Given the description of an element on the screen output the (x, y) to click on. 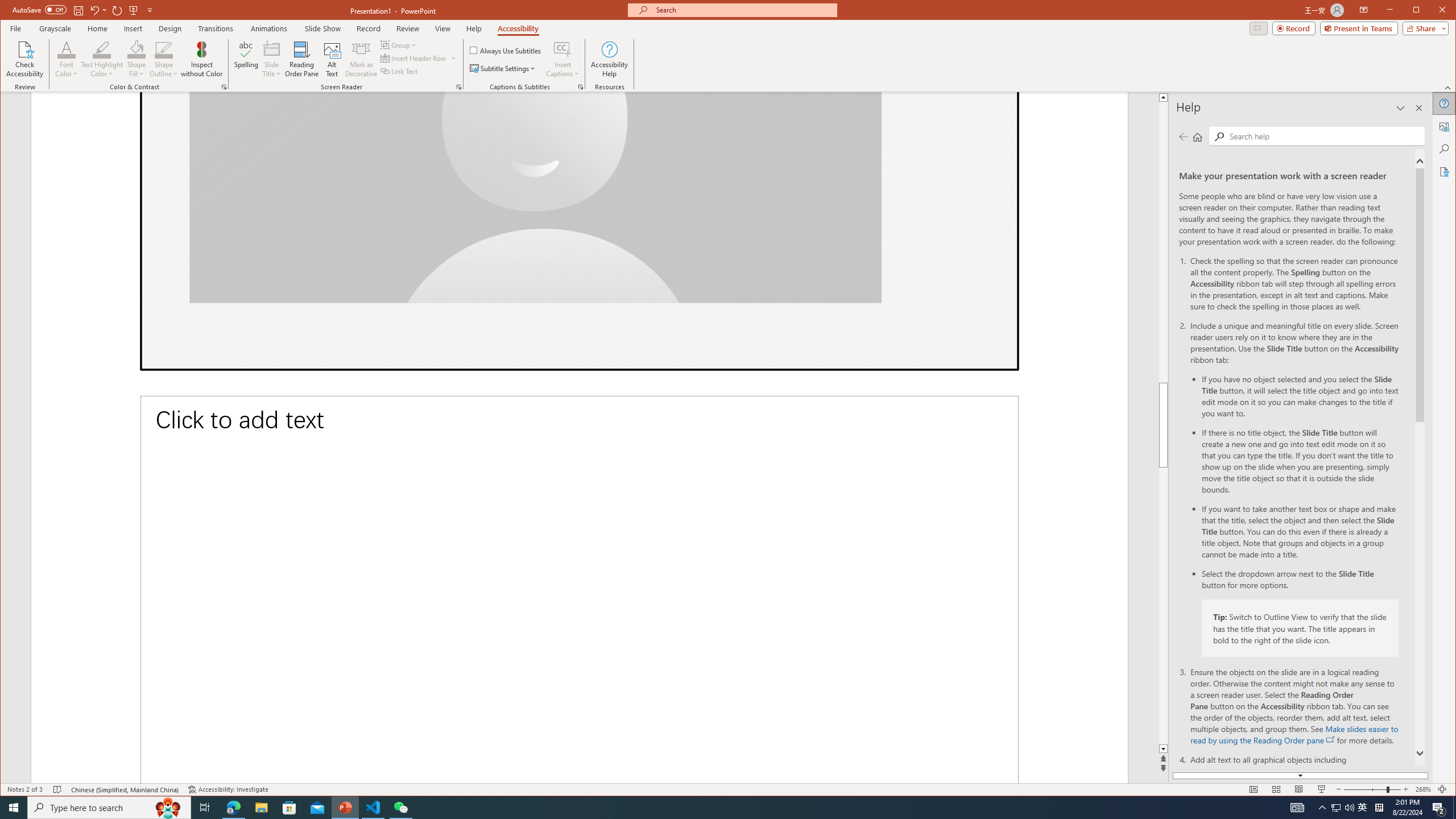
Group (399, 44)
Link Text (399, 70)
